Given the description of an element on the screen output the (x, y) to click on. 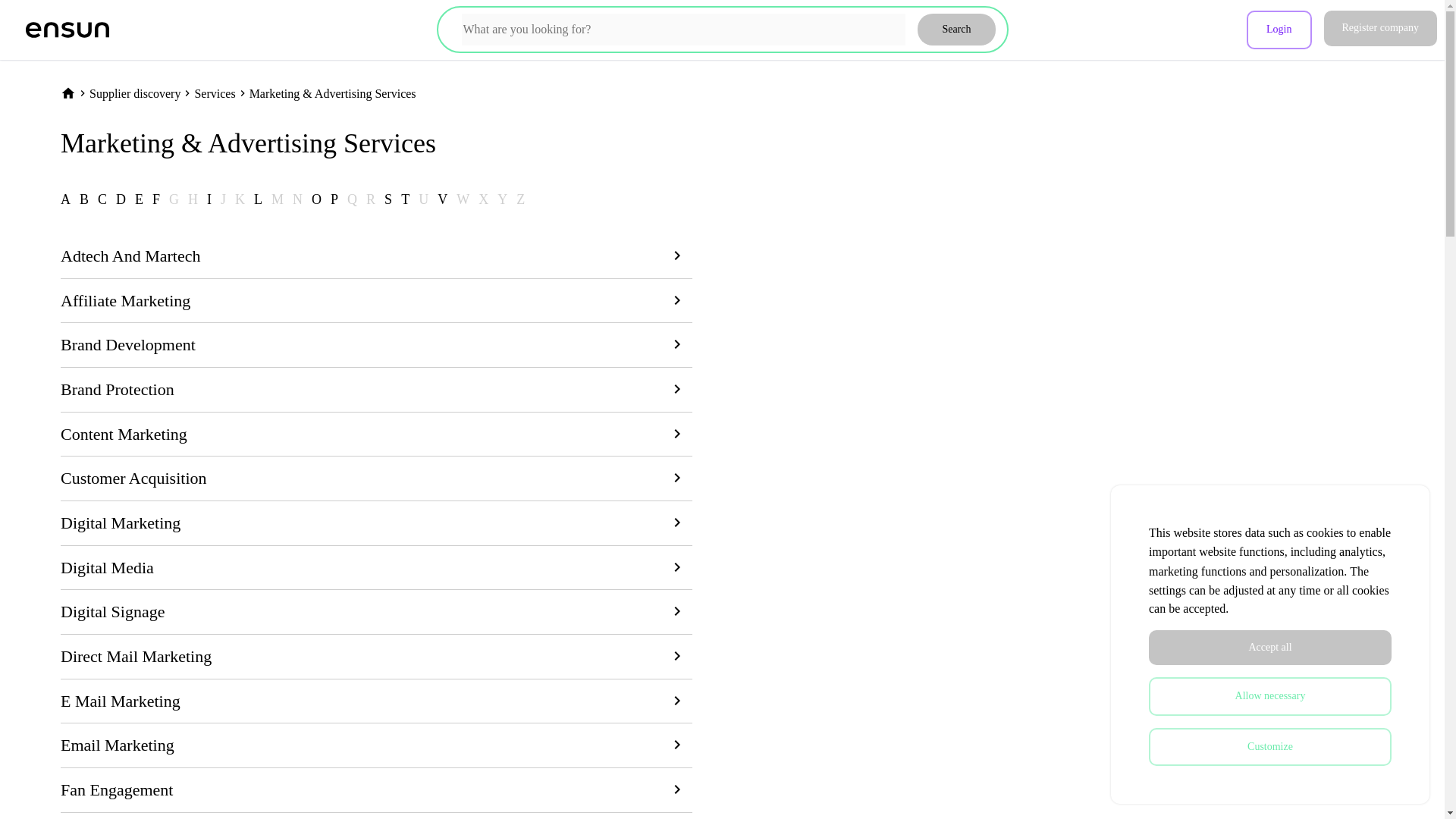
Digital Marketing (377, 523)
Fan Engagement (377, 790)
Digital Media (377, 568)
Direct Mail Marketing (377, 656)
Content Marketing (377, 434)
Brand Protection (377, 389)
Supplier discovery (134, 92)
Register company (1380, 27)
Affiliate Marketing (377, 301)
Adtech And Martech (377, 256)
